Given the description of an element on the screen output the (x, y) to click on. 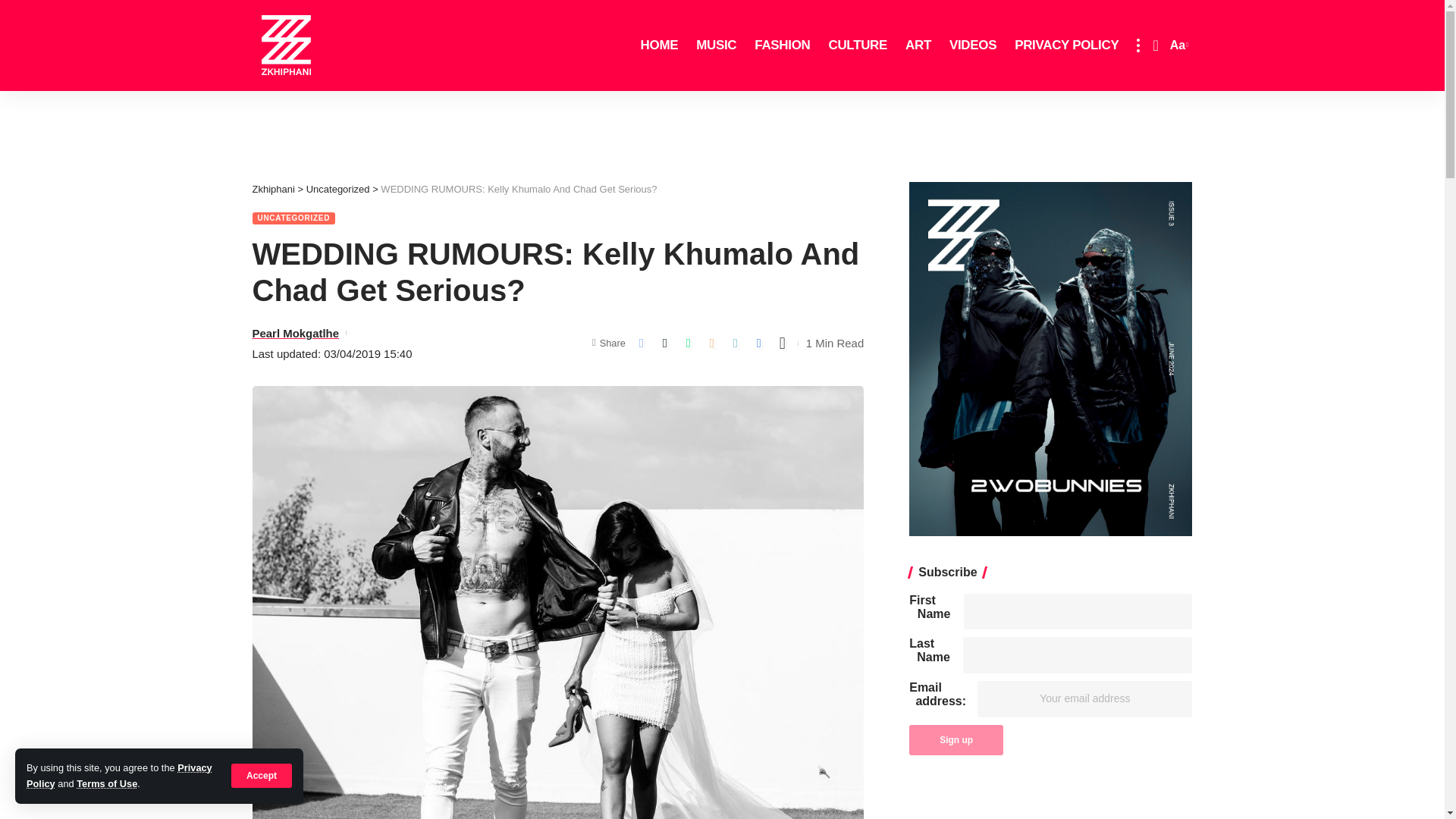
Sign up (955, 739)
Go to the Uncategorized Category archives. (337, 188)
Go to Zkhiphani. (272, 188)
Terms of Use (106, 783)
PRIVACY POLICY (1066, 45)
Zkhiphani (285, 45)
Accept (261, 775)
Aa (1177, 45)
Privacy Policy (119, 775)
